Given the description of an element on the screen output the (x, y) to click on. 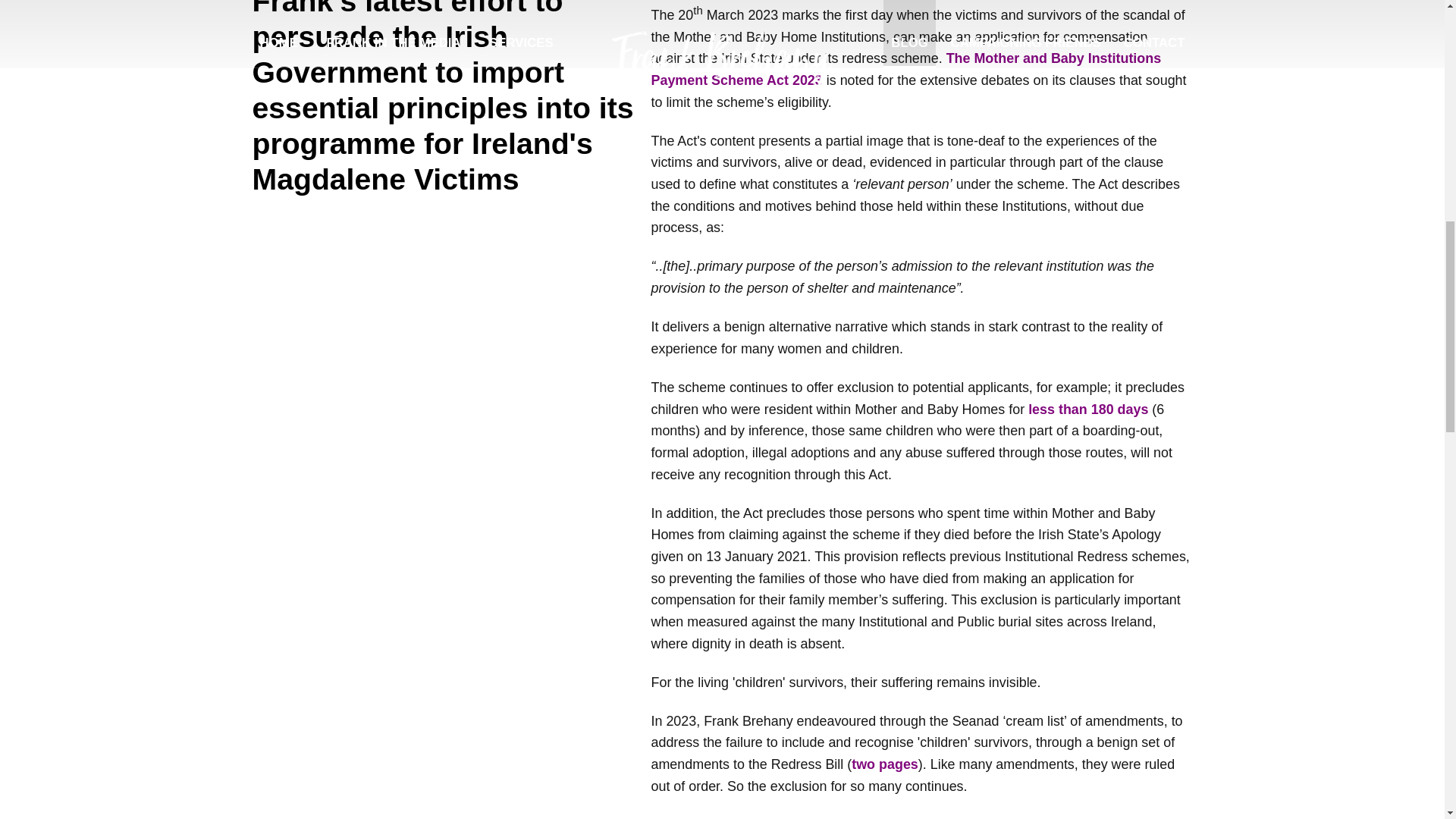
pages (898, 764)
The Mother and Baby Institutions Payment Scheme Act 2023 (905, 68)
less than 180 days (1087, 409)
two (863, 764)
